Given the description of an element on the screen output the (x, y) to click on. 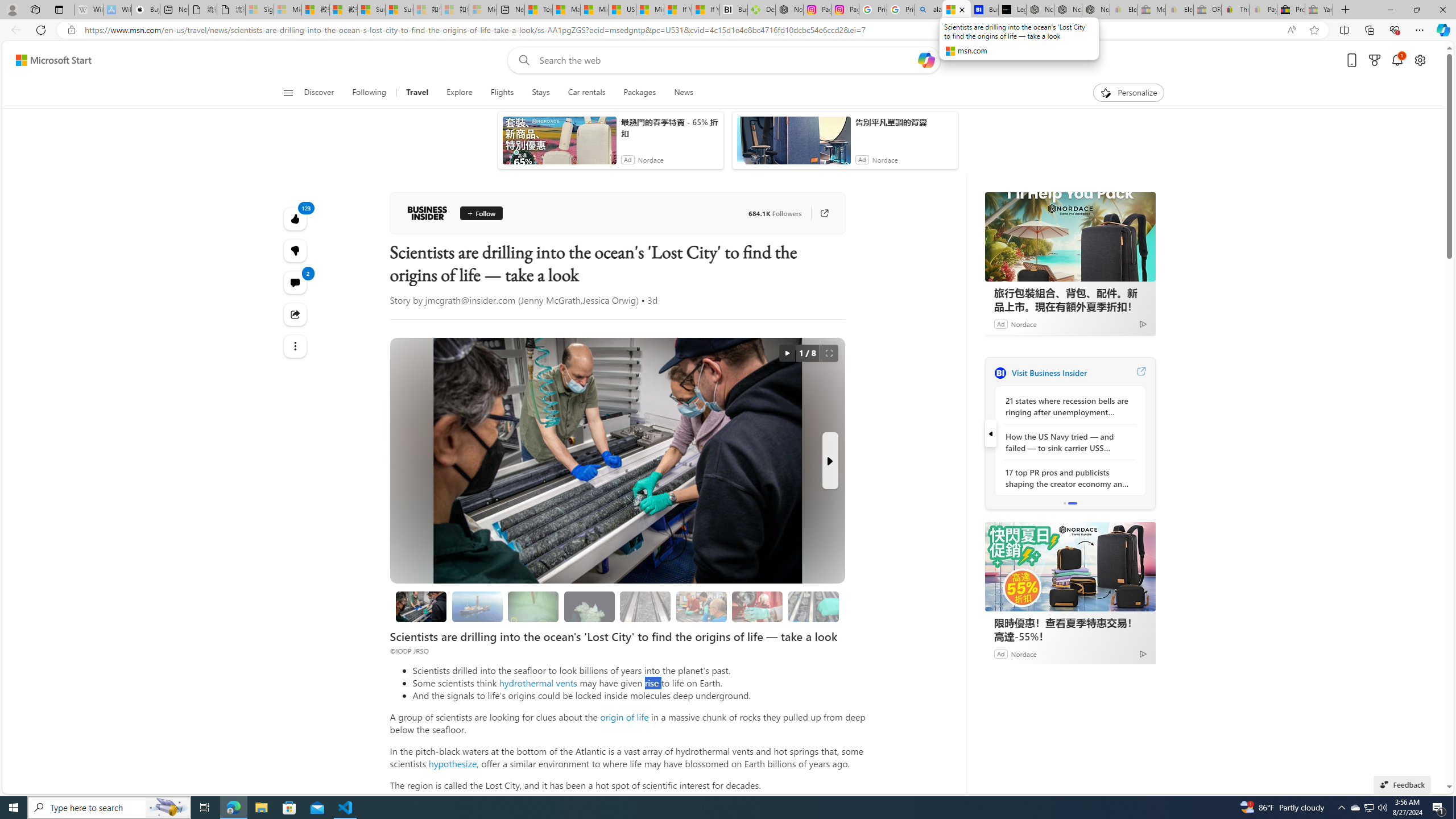
Threats and offensive language policy | eBay (1235, 9)
hypothesize, (453, 763)
The Lost City could hold clues to the origin of life. (589, 606)
Yard, Garden & Outdoor Living - Sleeping (1319, 9)
Flights (501, 92)
